Given the description of an element on the screen output the (x, y) to click on. 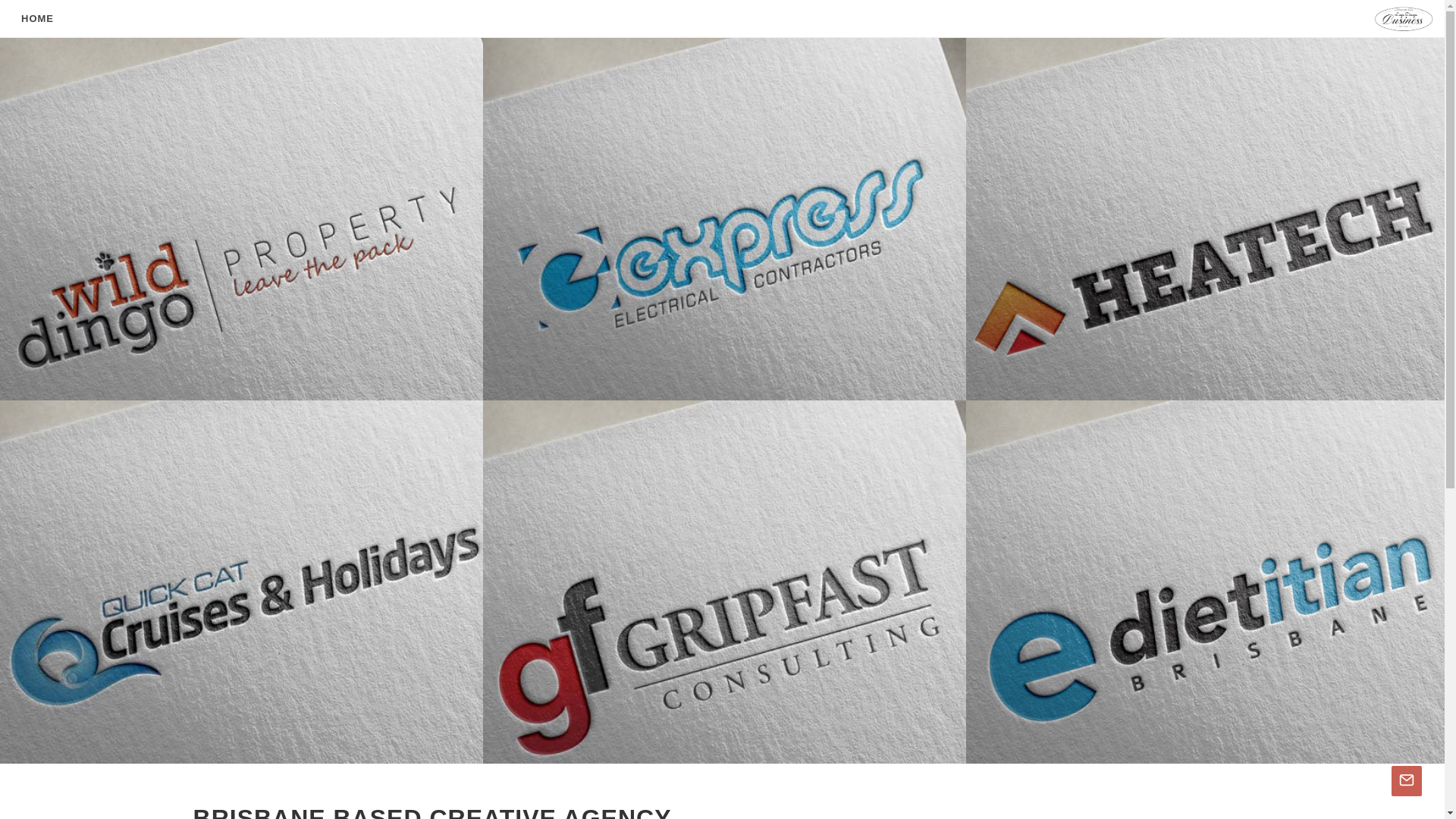
HOME Element type: text (37, 18)
